Given the description of an element on the screen output the (x, y) to click on. 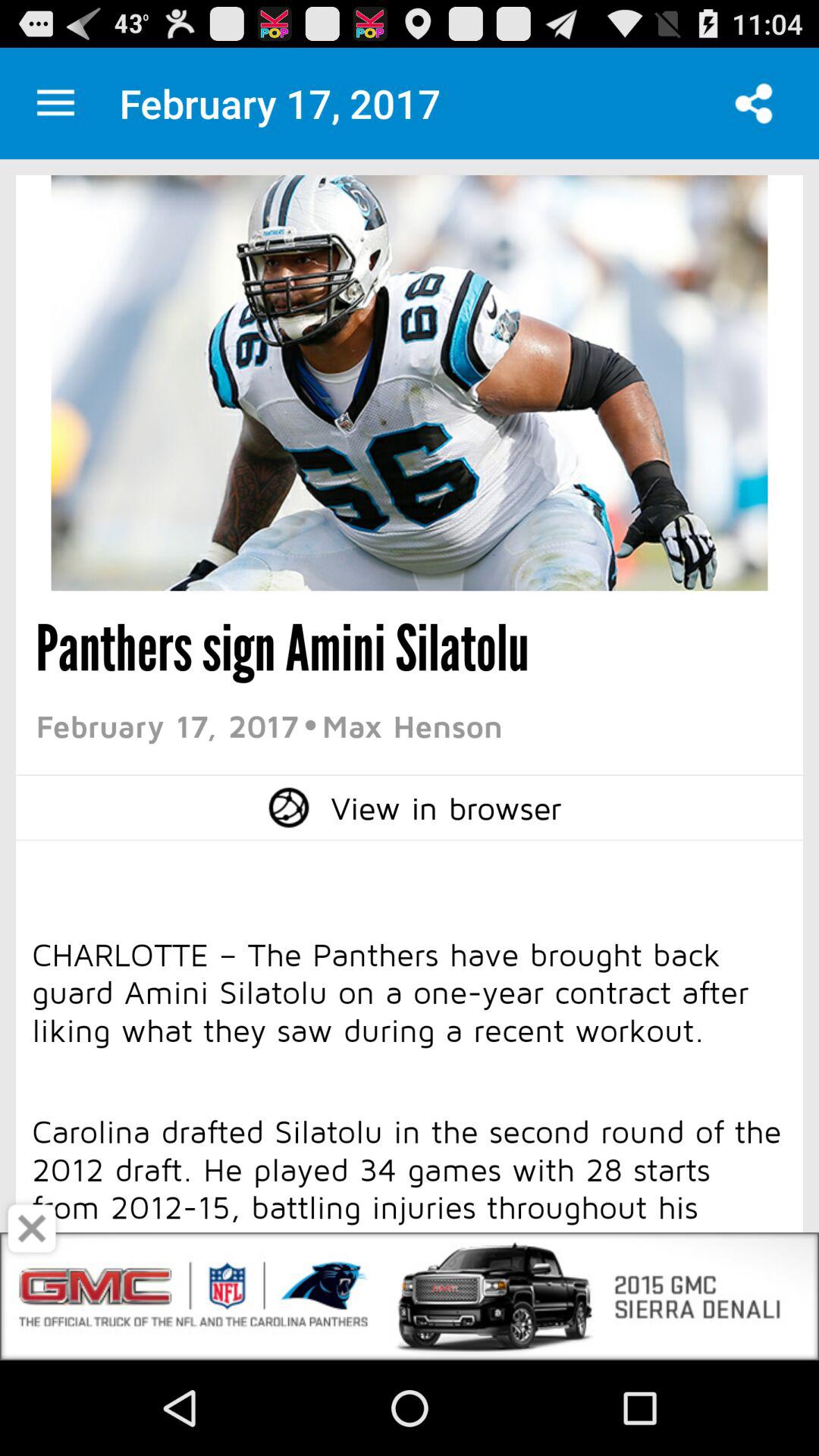
open an advertisements (409, 1296)
